Given the description of an element on the screen output the (x, y) to click on. 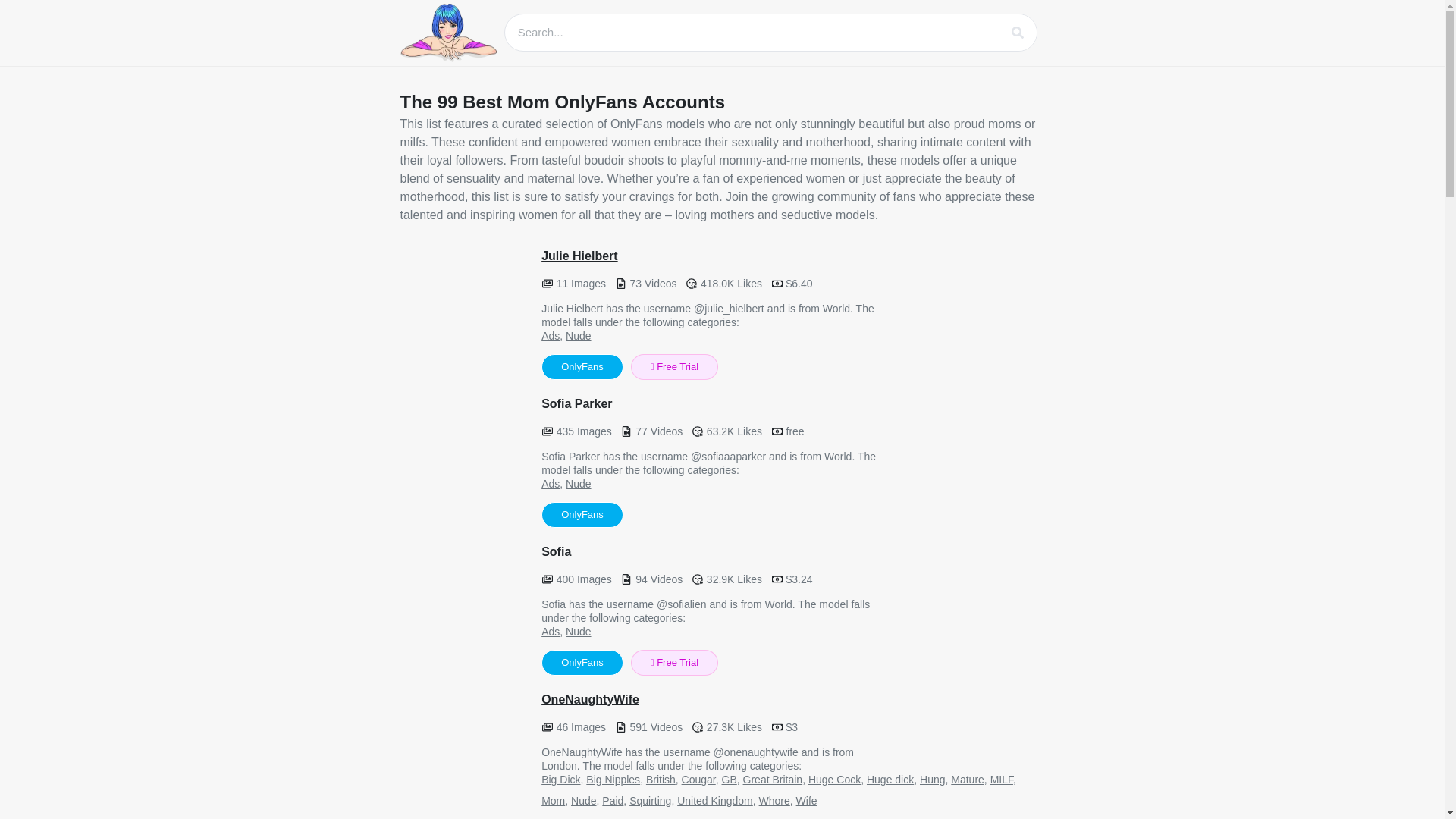
OnlyFans (582, 514)
Mom (552, 800)
Nude (582, 800)
Ads (550, 336)
MILF (1001, 779)
Mature (967, 779)
Sofia (463, 609)
Squirting (649, 800)
United Kingdom (714, 800)
Ads (550, 483)
Nude (578, 483)
Wife (806, 800)
Hung (932, 779)
GB (729, 779)
Paid (612, 800)
